Given the description of an element on the screen output the (x, y) to click on. 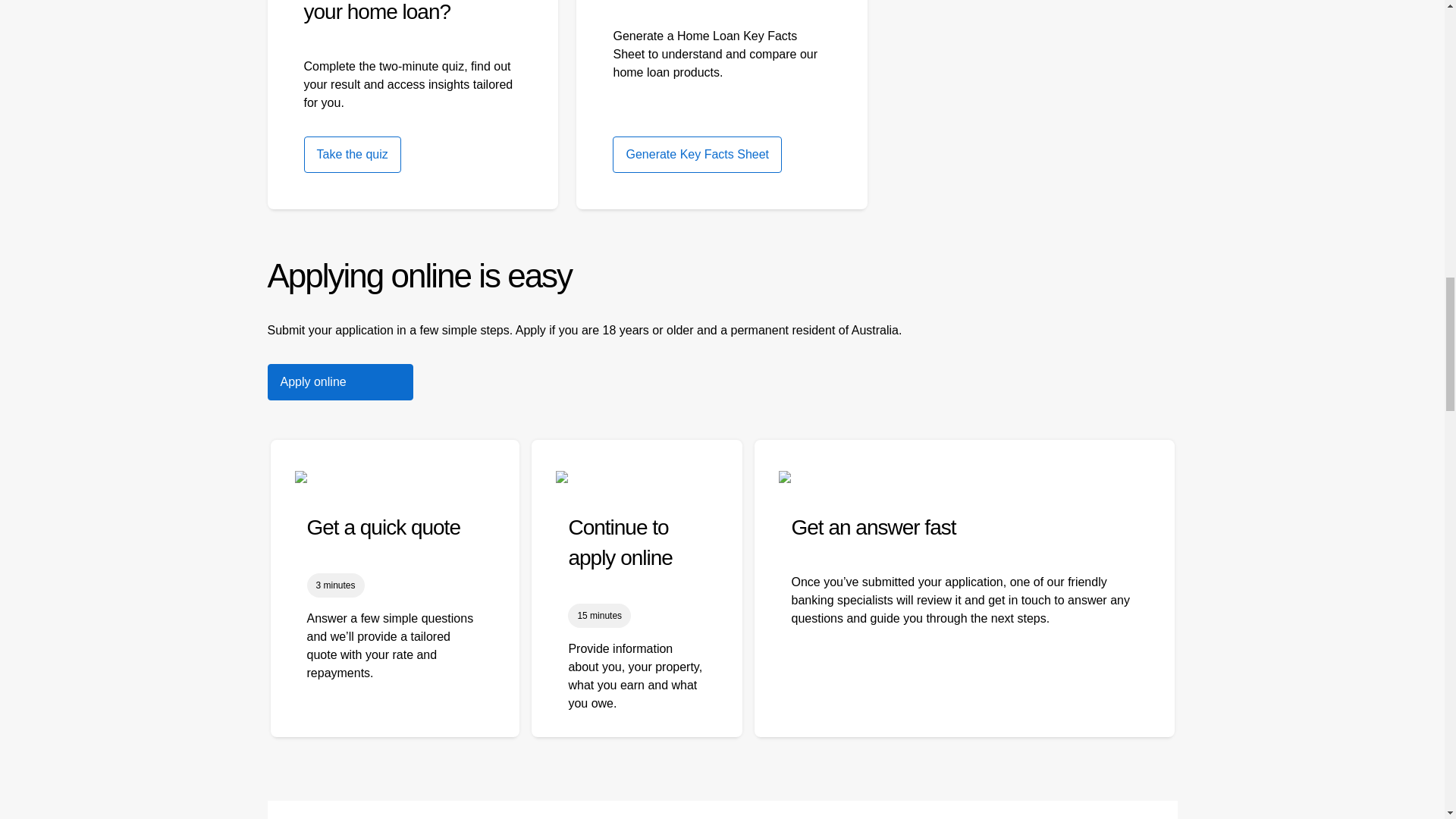
Take the quiz (351, 154)
Generate Key Facts Sheet (696, 154)
Apply online (339, 381)
